Given the description of an element on the screen output the (x, y) to click on. 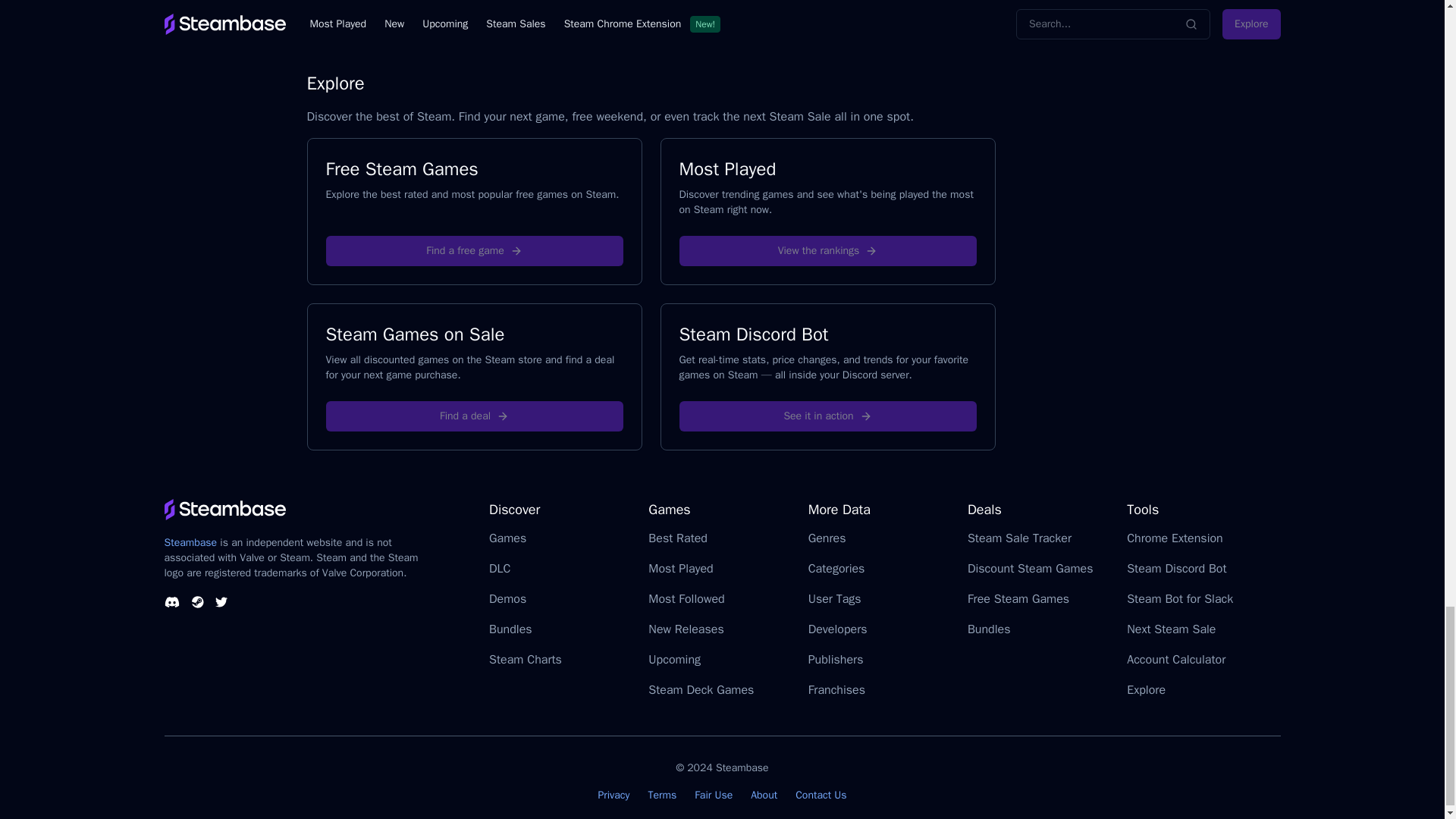
Most Played (826, 211)
Steam Discord Bot (826, 376)
Free Steam Games (473, 211)
Best Steam games on Linux (409, 4)
Steam Games on Sale (473, 376)
